Given the description of an element on the screen output the (x, y) to click on. 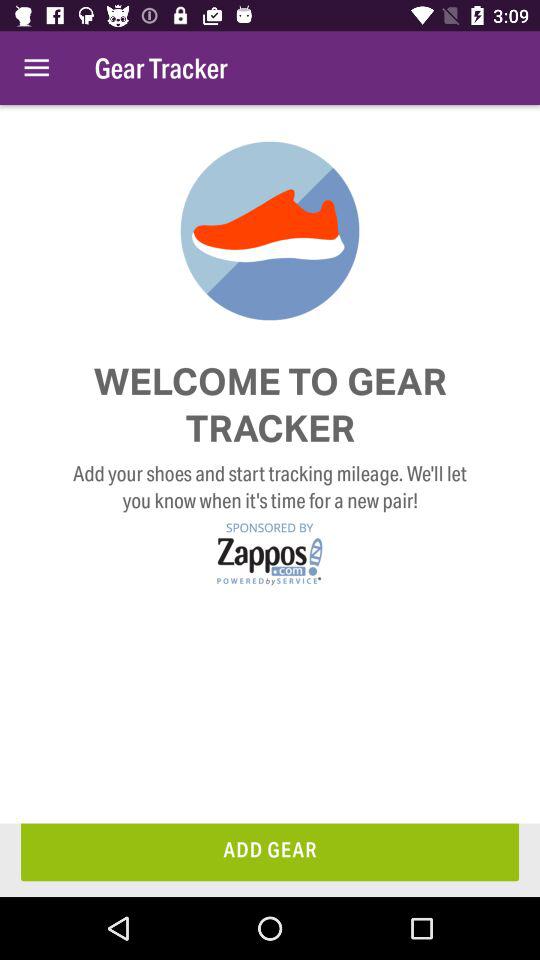
turn on item above the welcome to gear item (36, 68)
